Given the description of an element on the screen output the (x, y) to click on. 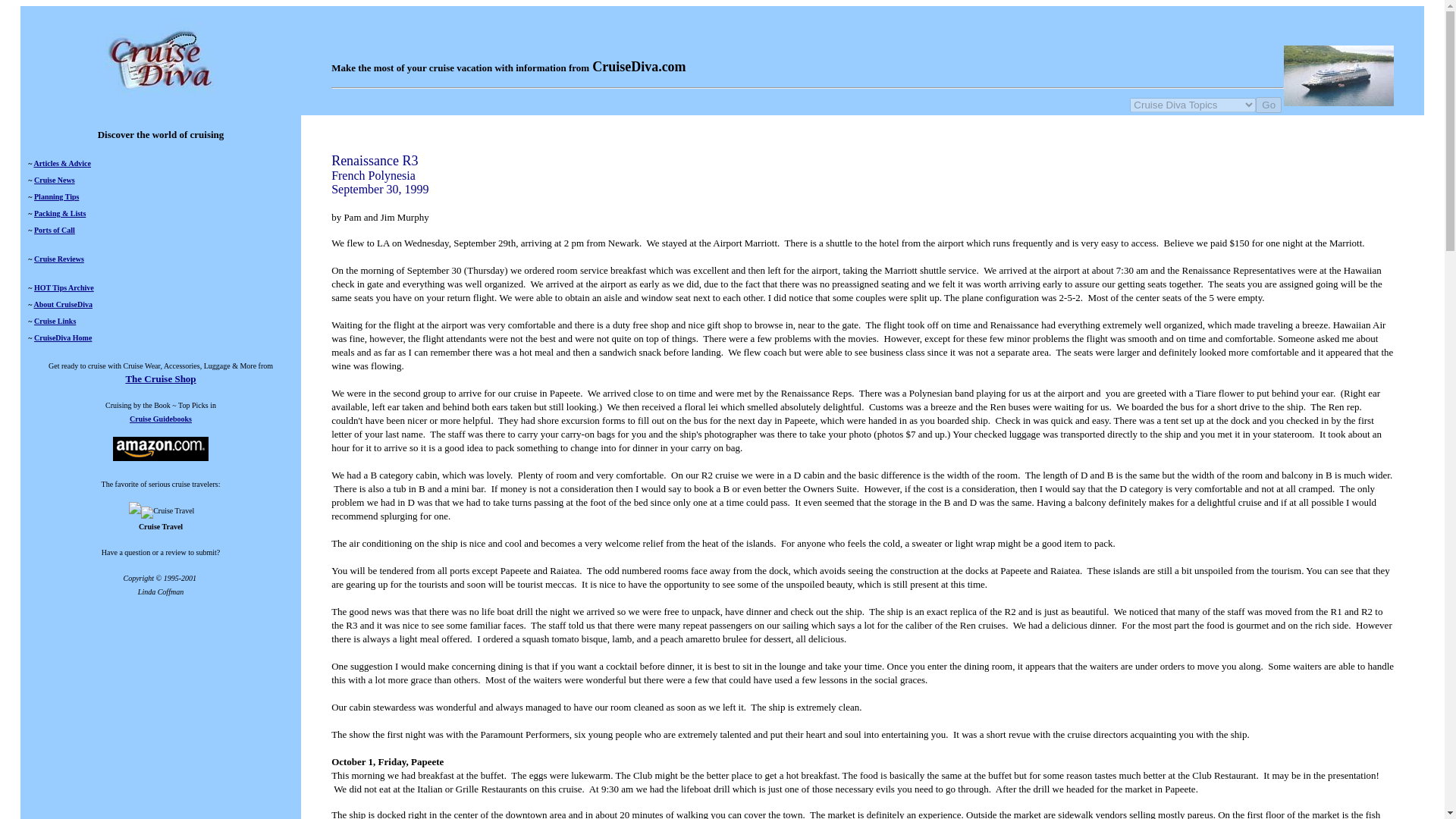
Cruise News (54, 180)
CruiseDiva Home (62, 337)
Planning Tips (55, 196)
Cruise Links (54, 320)
About CruiseDiva (63, 304)
Cruise Reviews (58, 258)
Go (1268, 105)
The Cruise Shop (160, 377)
Cruise Guidebooks (160, 418)
Ports of Call (54, 230)
